Given the description of an element on the screen output the (x, y) to click on. 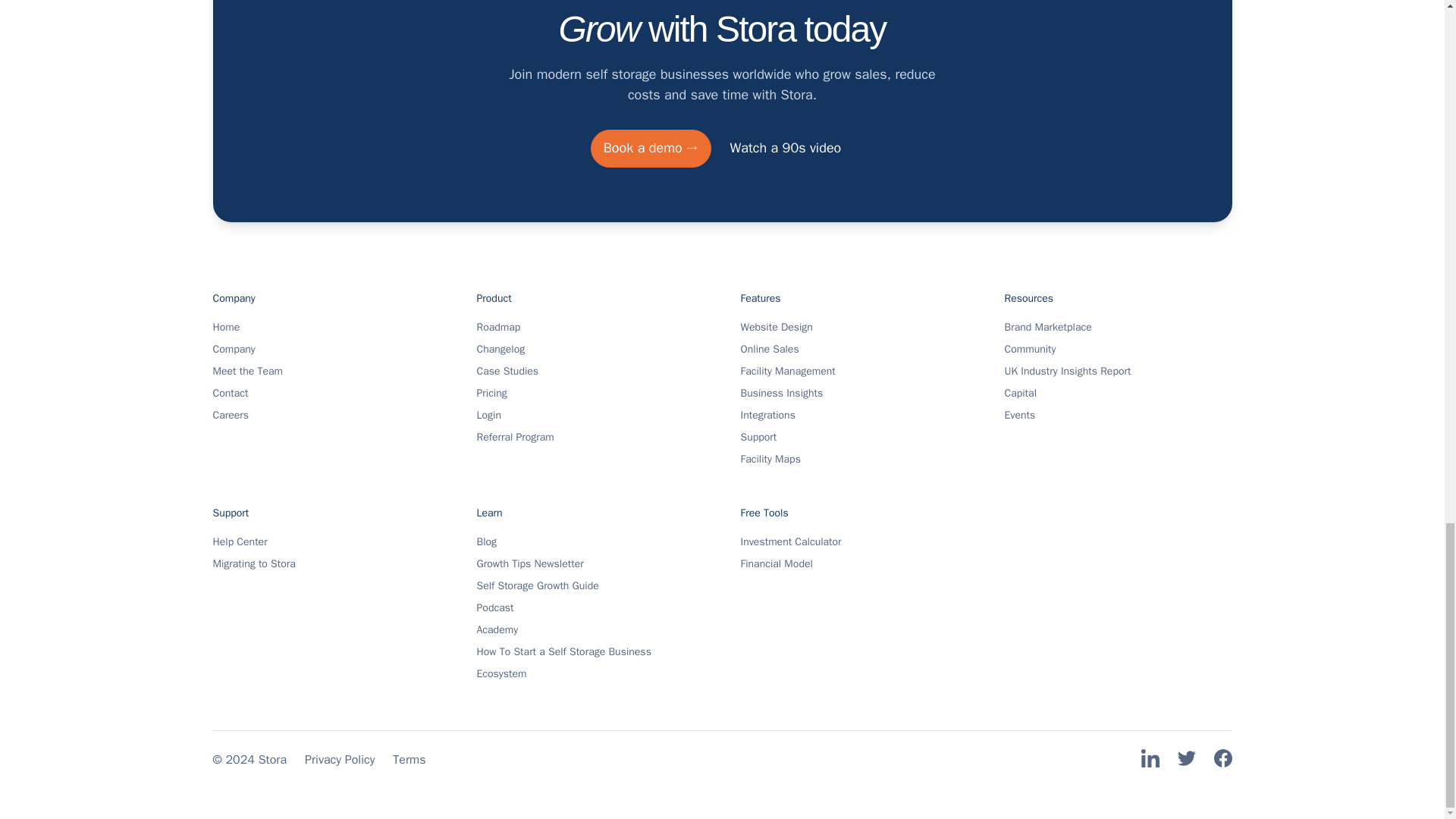
Contact our sales team (785, 148)
Terms (409, 760)
Privacy Policy (339, 760)
Book a demo with Stora (651, 148)
